Given the description of an element on the screen output the (x, y) to click on. 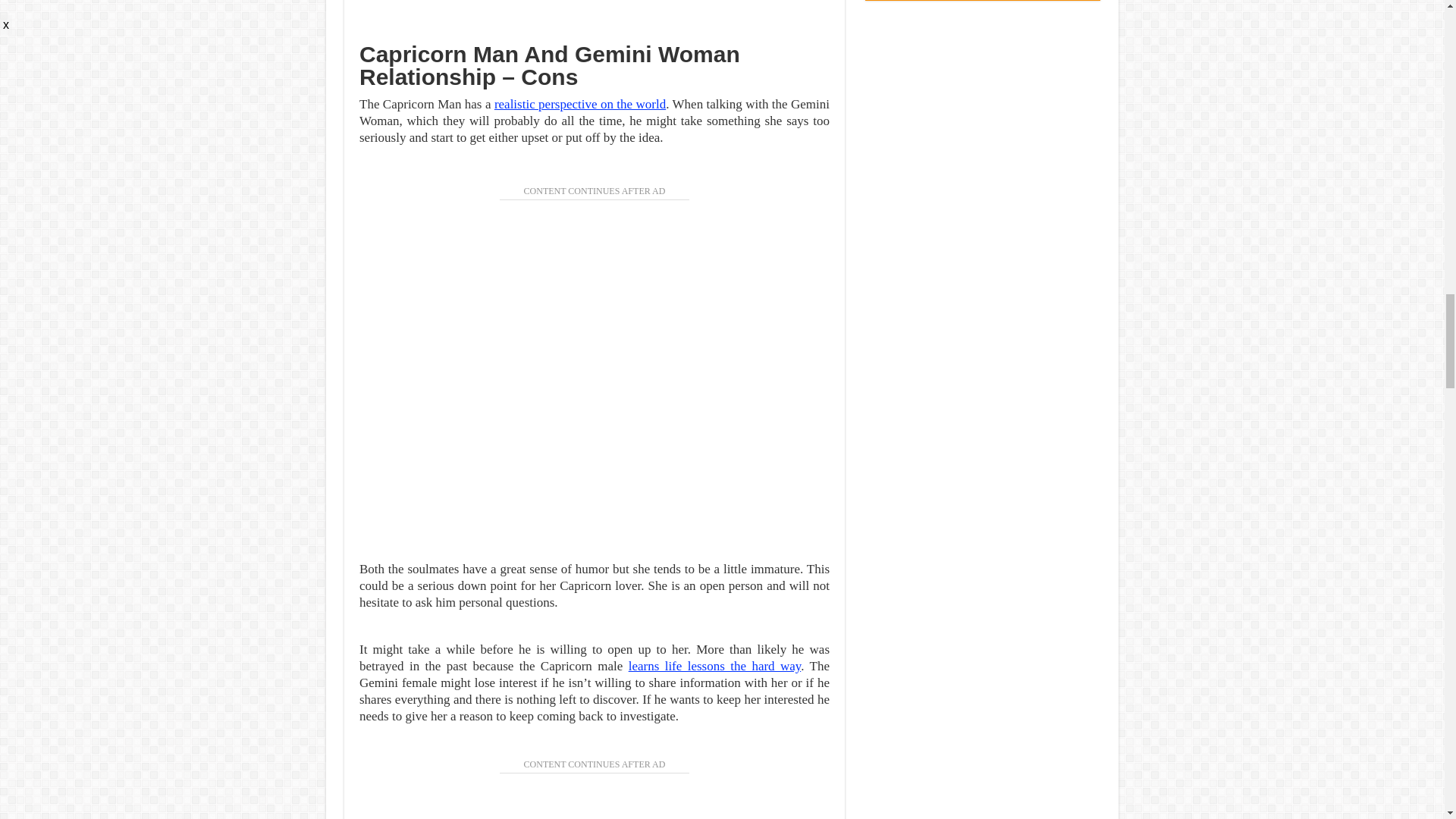
realistic perspective on the world (580, 104)
learns life lessons the hard way (715, 666)
